Given the description of an element on the screen output the (x, y) to click on. 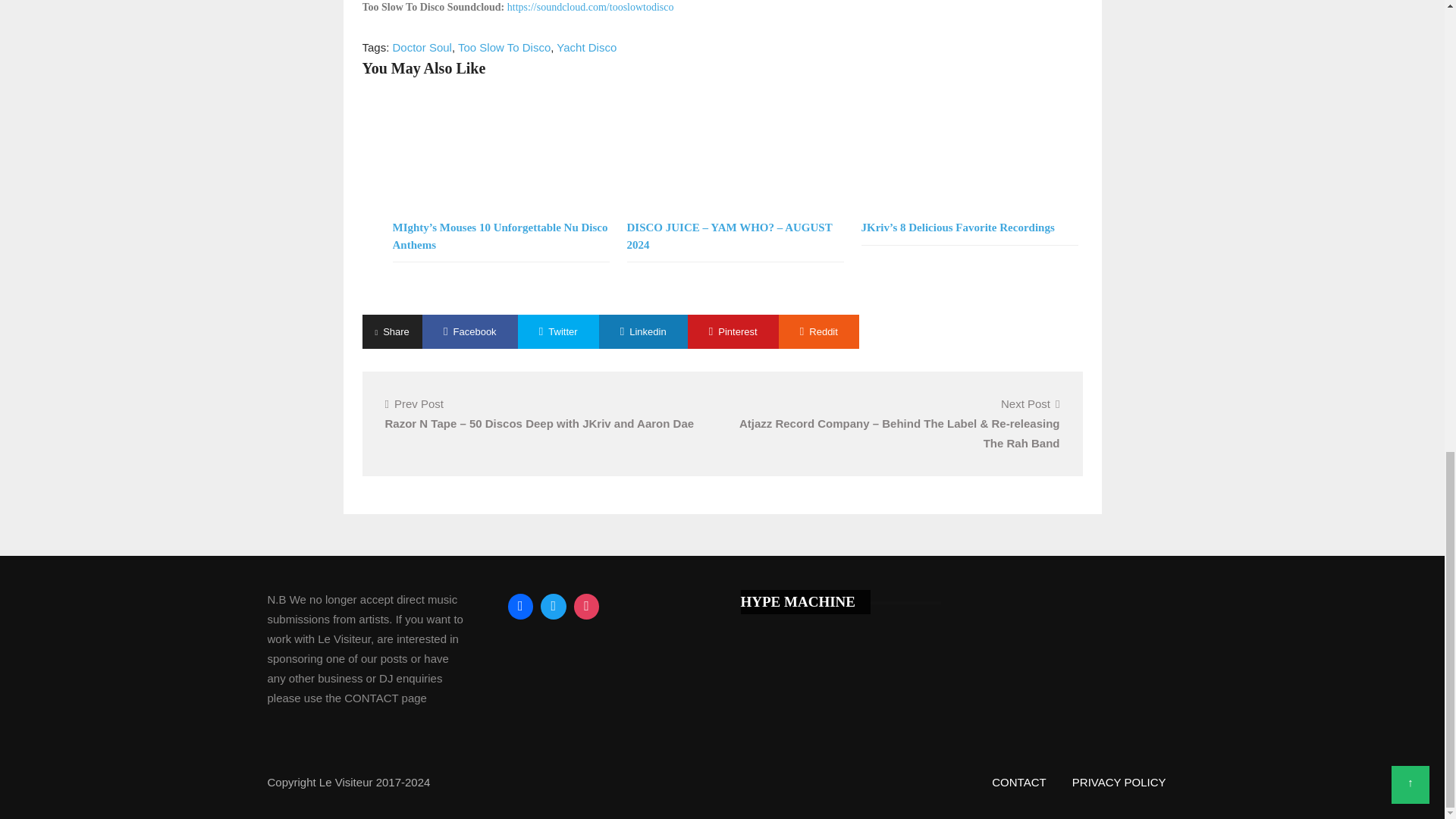
Yacht Disco (585, 47)
Twitter (553, 606)
Too Slow To Disco (504, 47)
Instagram (587, 606)
Doctor Soul (422, 47)
Facebook (520, 606)
